Given the description of an element on the screen output the (x, y) to click on. 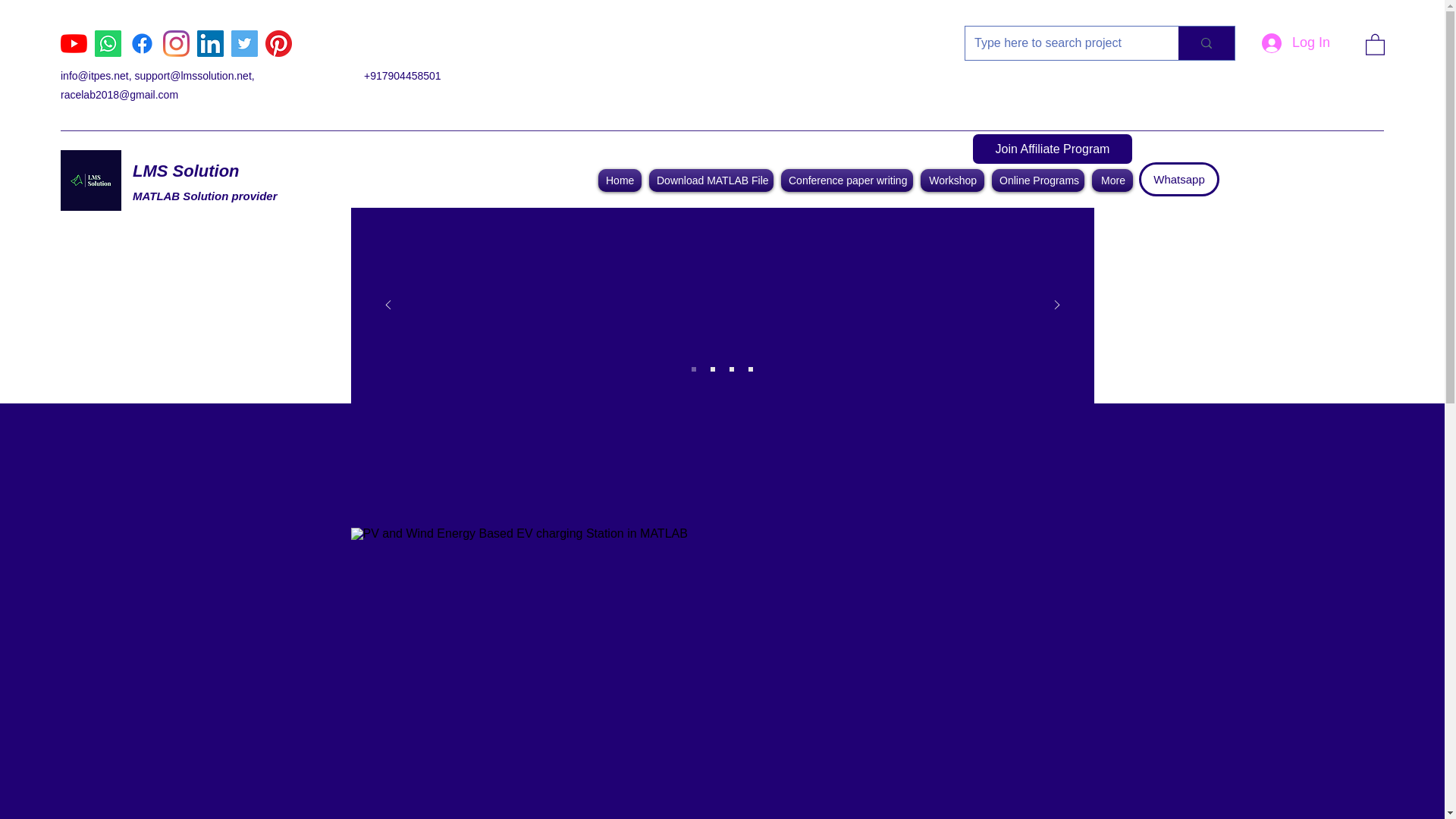
Online Programs (1037, 179)
Workshop (952, 179)
Log In (1295, 42)
Whatsapp (1179, 179)
Home (619, 179)
Download MATLAB File (711, 179)
Conference paper writing (847, 179)
Join Affiliate Program (1052, 148)
